Given the description of an element on the screen output the (x, y) to click on. 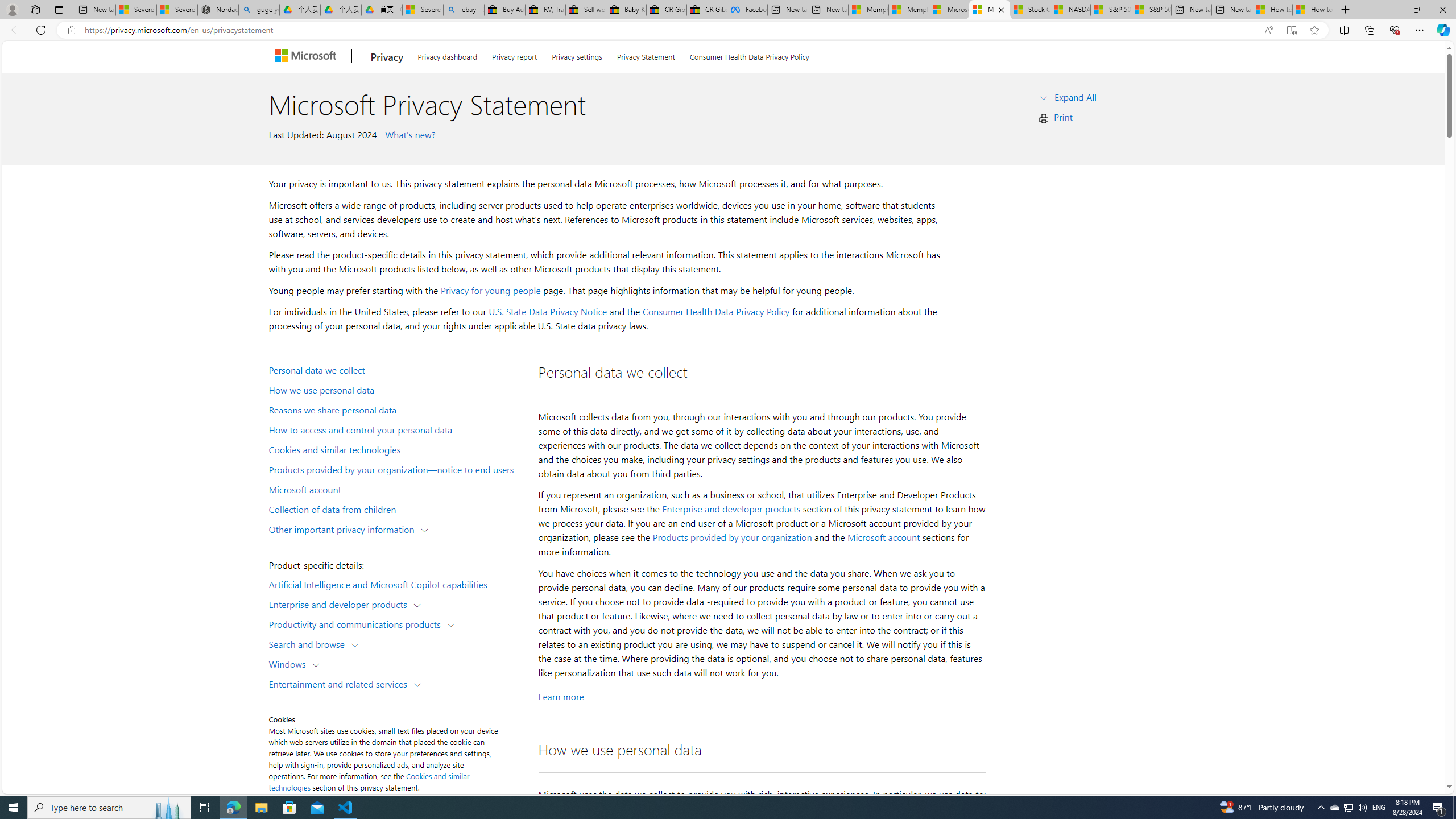
Artificial Intelligence and Microsoft Copilot capabilities (395, 583)
Products provided by your organization (732, 537)
Privacy dashboard (447, 54)
Enterprise and developer products (340, 603)
Productivity and communications products (356, 623)
Other important privacy information (343, 528)
 What's new? (408, 133)
